Given the description of an element on the screen output the (x, y) to click on. 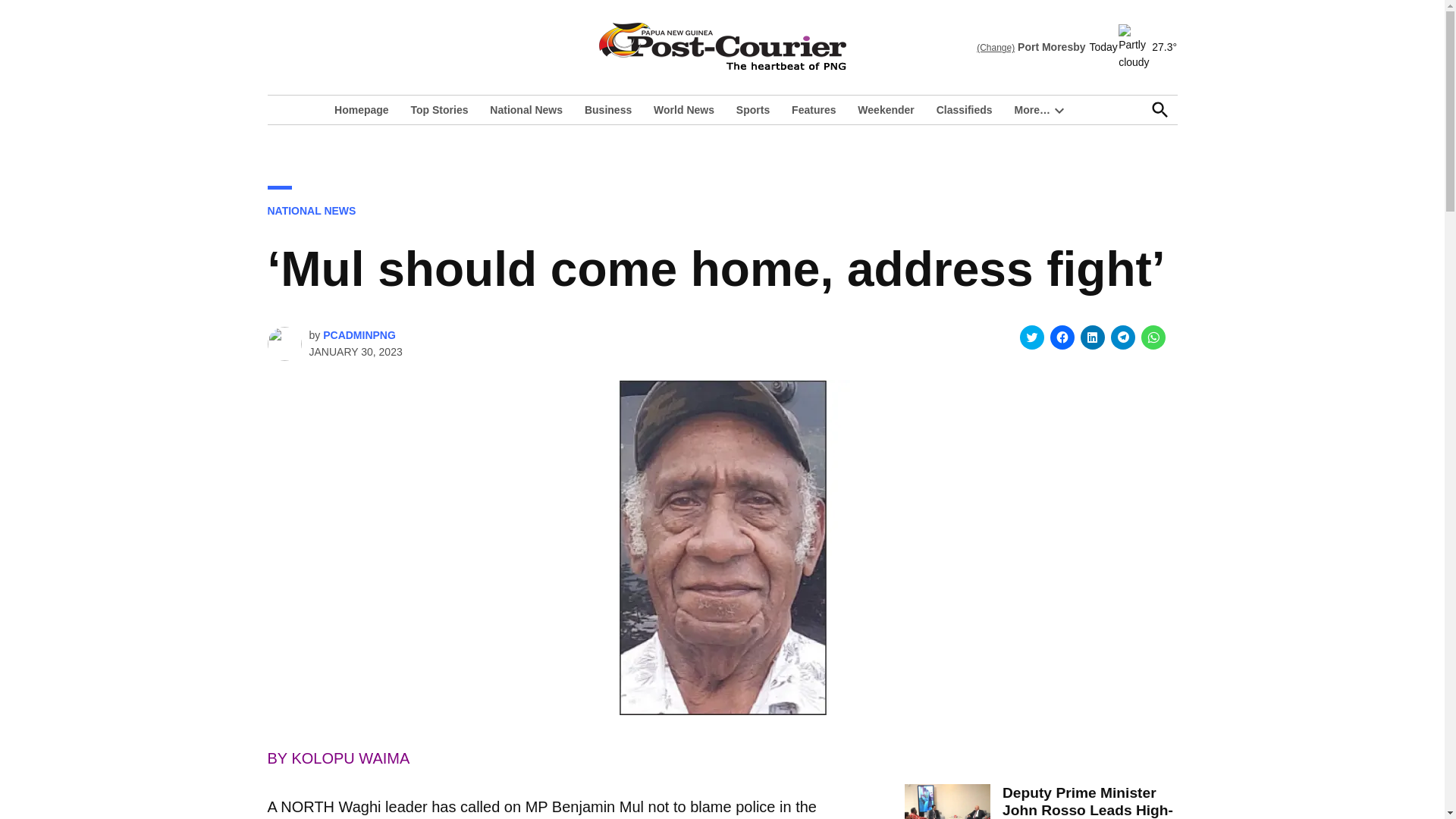
Click to share on Facebook (1061, 337)
Click to share on Twitter (1031, 337)
Weekender (885, 109)
Top Stories (439, 109)
Port Moresby (1050, 46)
Features (813, 109)
Sports (753, 109)
World News (684, 109)
Classifieds (964, 109)
Click to share on LinkedIn (1091, 337)
